Given the description of an element on the screen output the (x, y) to click on. 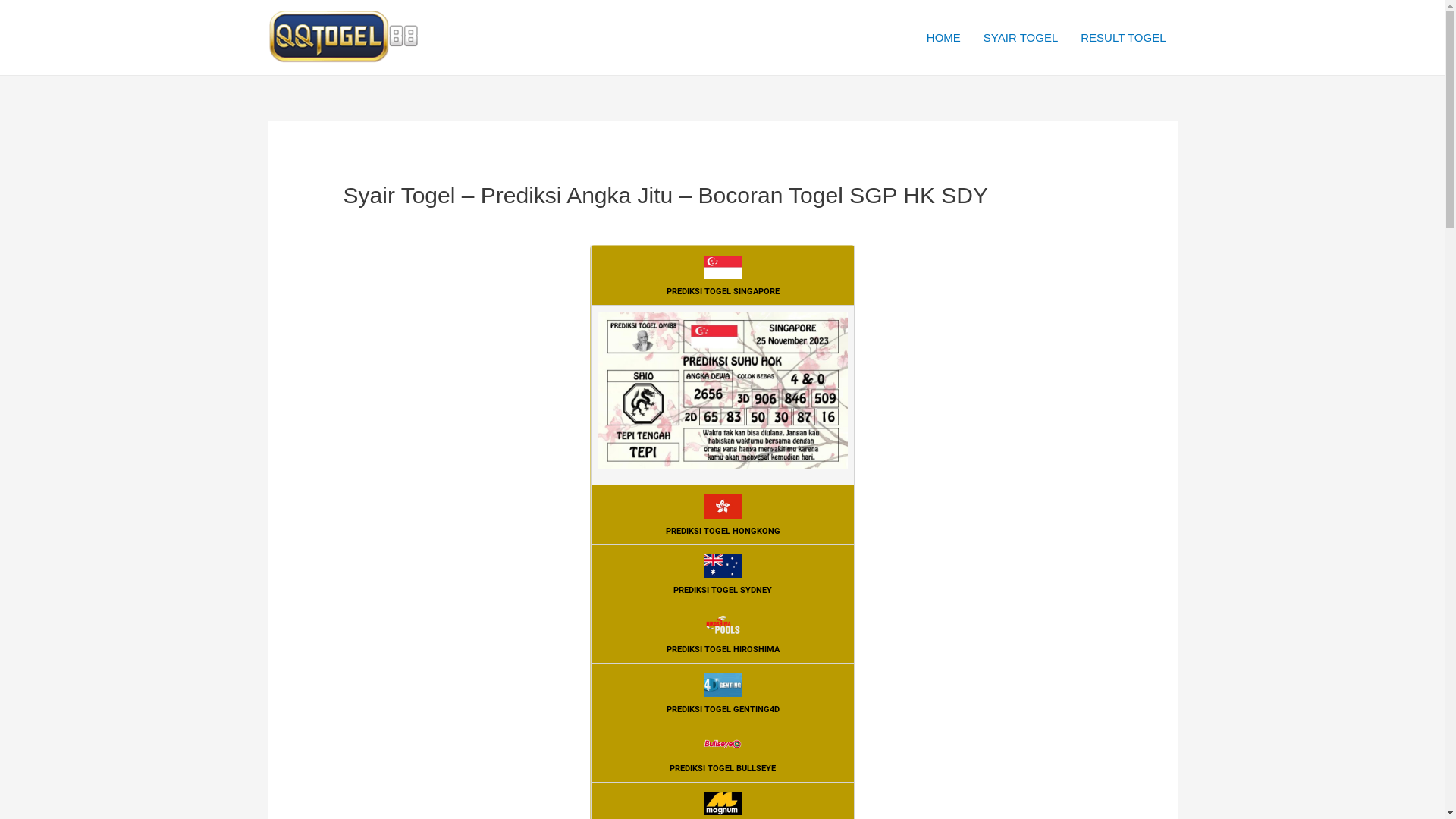
RESULT TOGEL Element type: text (1122, 36)
HOME Element type: text (943, 36)
SYAIR TOGEL Element type: text (1020, 36)
